Given the description of an element on the screen output the (x, y) to click on. 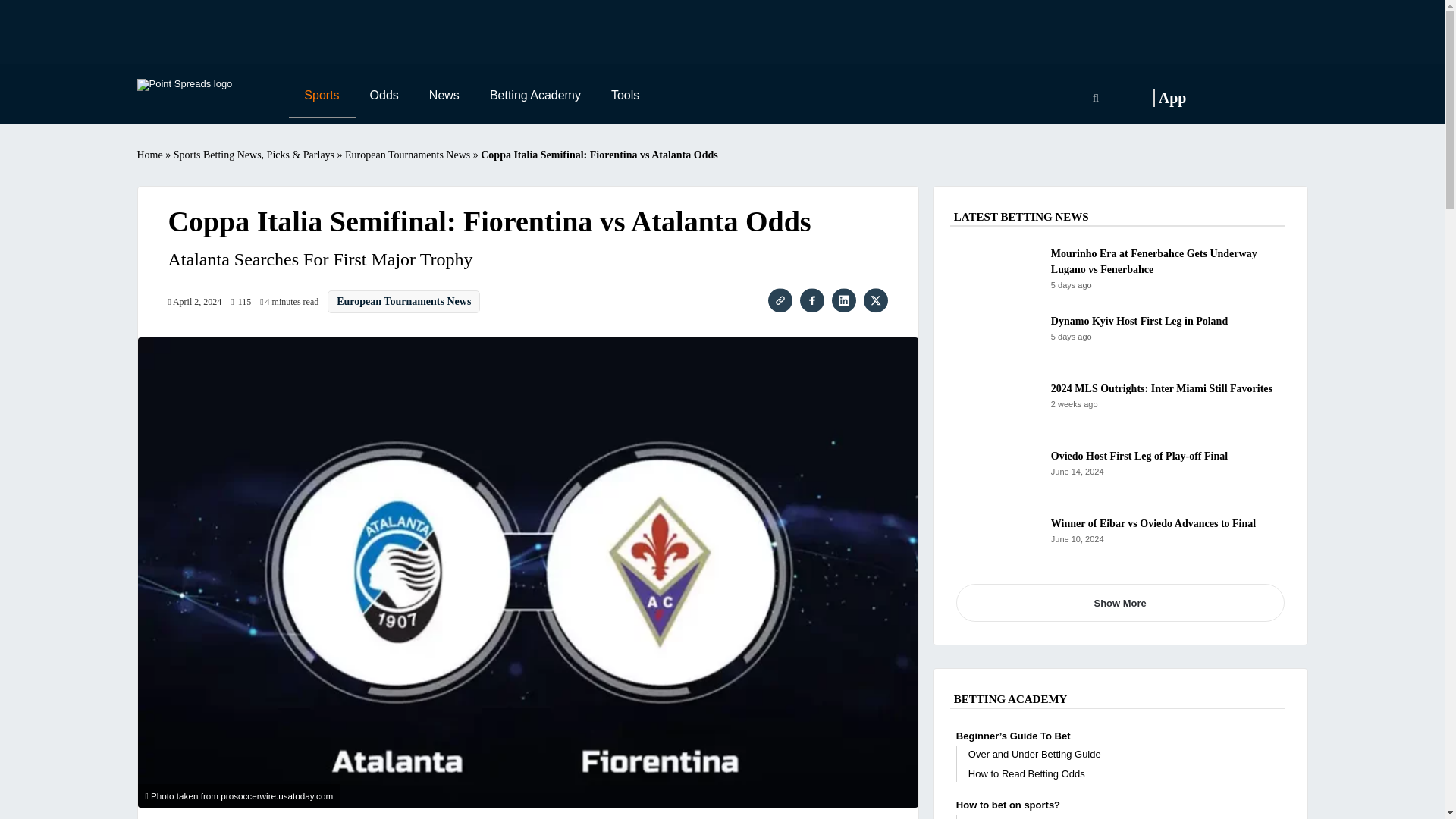
SUBSCRIBE to Point Spreads (1254, 98)
Sports (320, 95)
Point Spreads (183, 84)
